Given the description of an element on the screen output the (x, y) to click on. 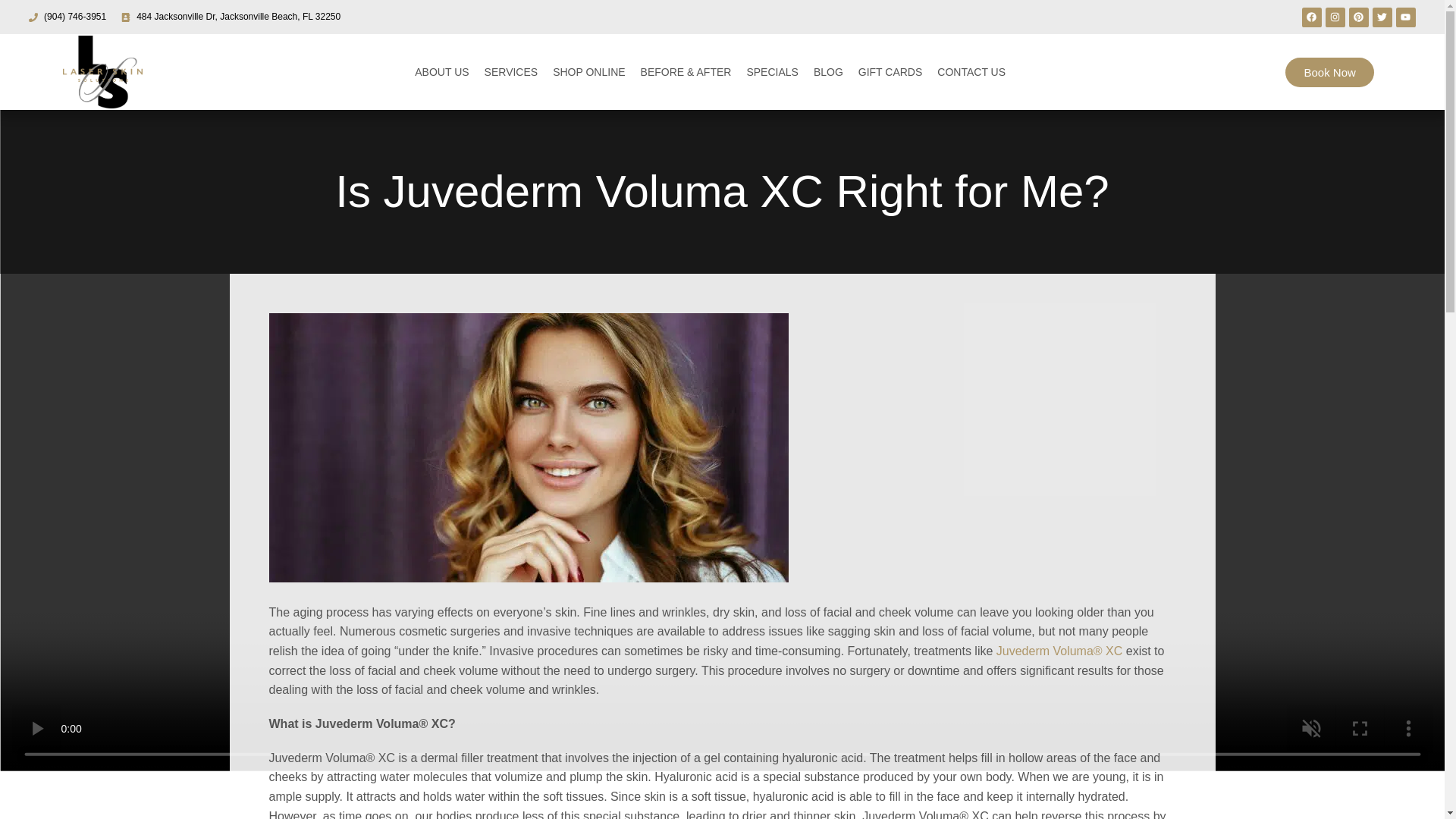
SERVICES (511, 71)
ABOUT US (441, 71)
